Given the description of an element on the screen output the (x, y) to click on. 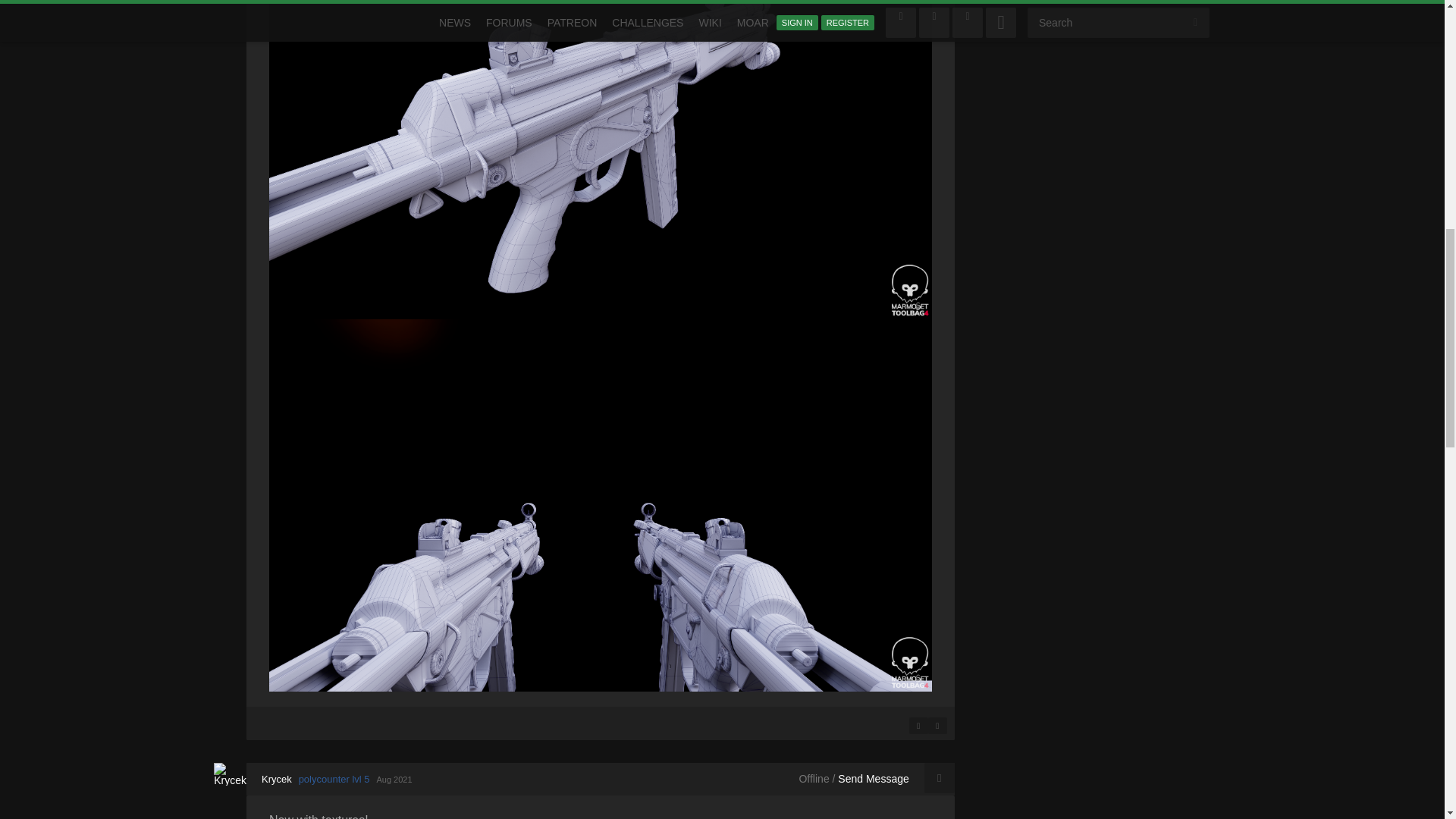
SHARE ON TWITTER (937, 725)
Send Message (873, 778)
Krycek (277, 778)
Aug 2021 (393, 778)
SHARE ON FACEBOOK (918, 725)
